Given the description of an element on the screen output the (x, y) to click on. 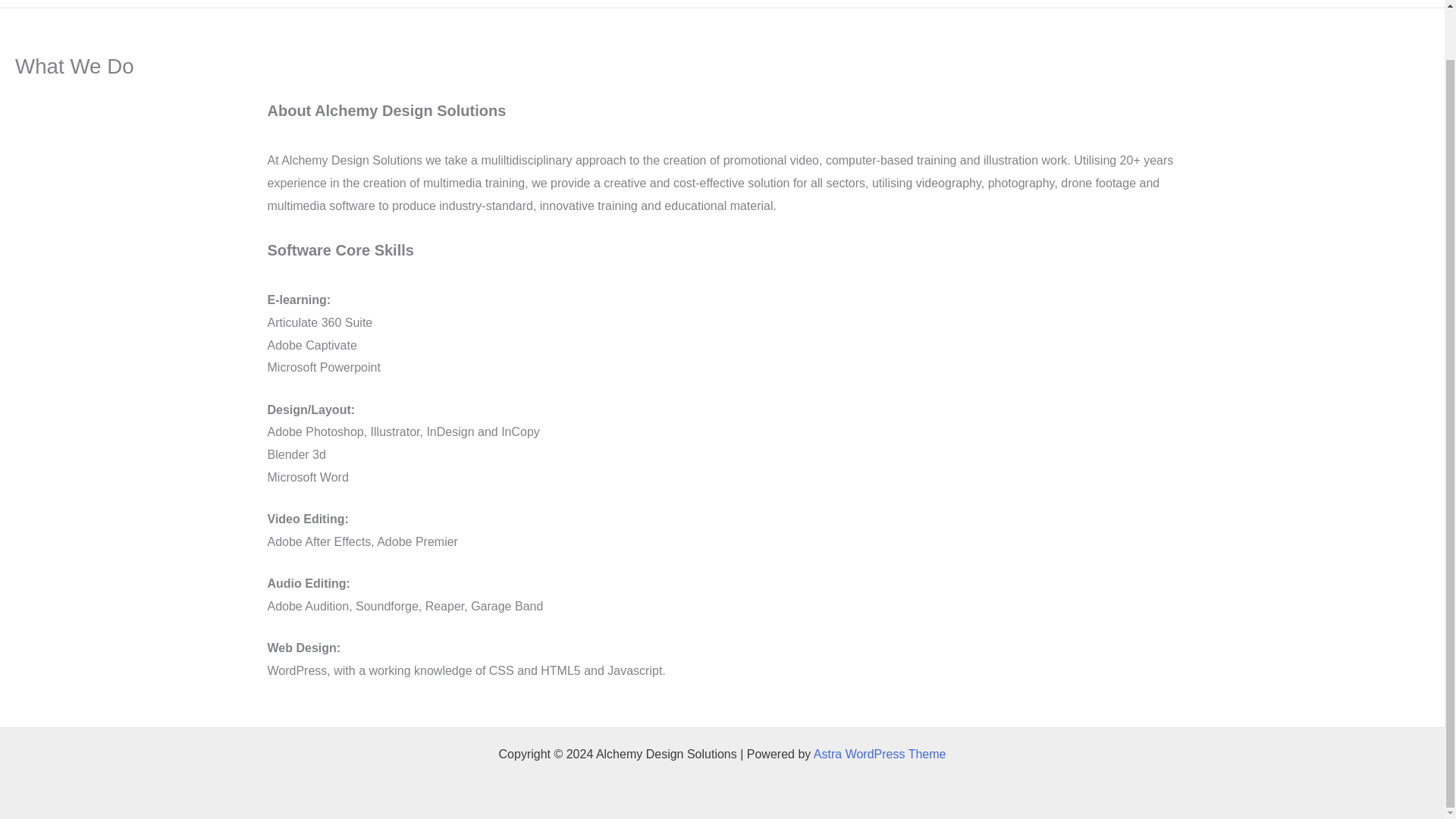
Astra WordPress Theme (879, 753)
Contact (1395, 3)
Video Streaming (1081, 3)
E-learning (1177, 3)
3D Scans and Blender (1289, 3)
What We Do (845, 3)
Video Commissions (959, 3)
